Given the description of an element on the screen output the (x, y) to click on. 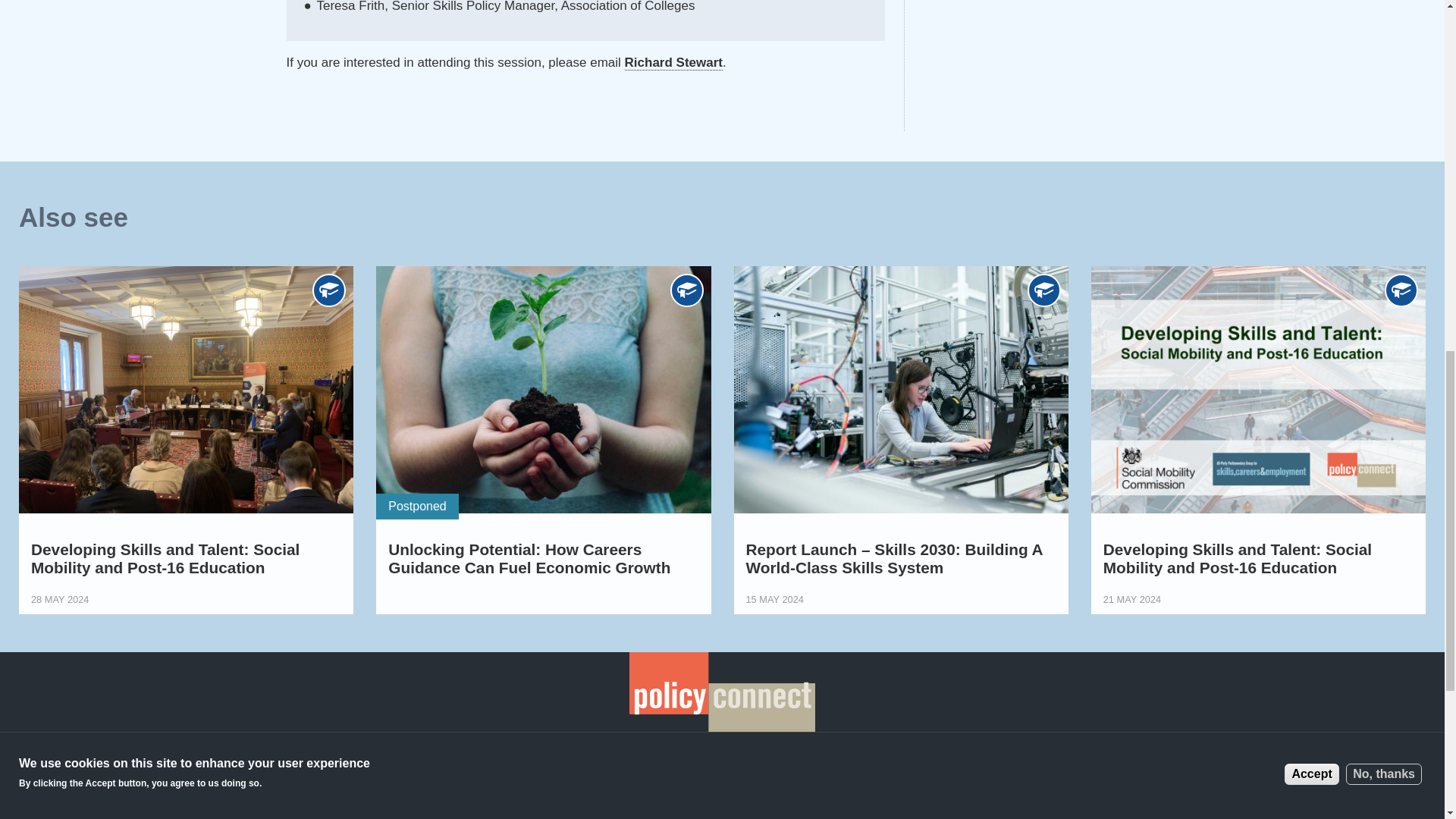
Richard Stewart (673, 62)
